Given the description of an element on the screen output the (x, y) to click on. 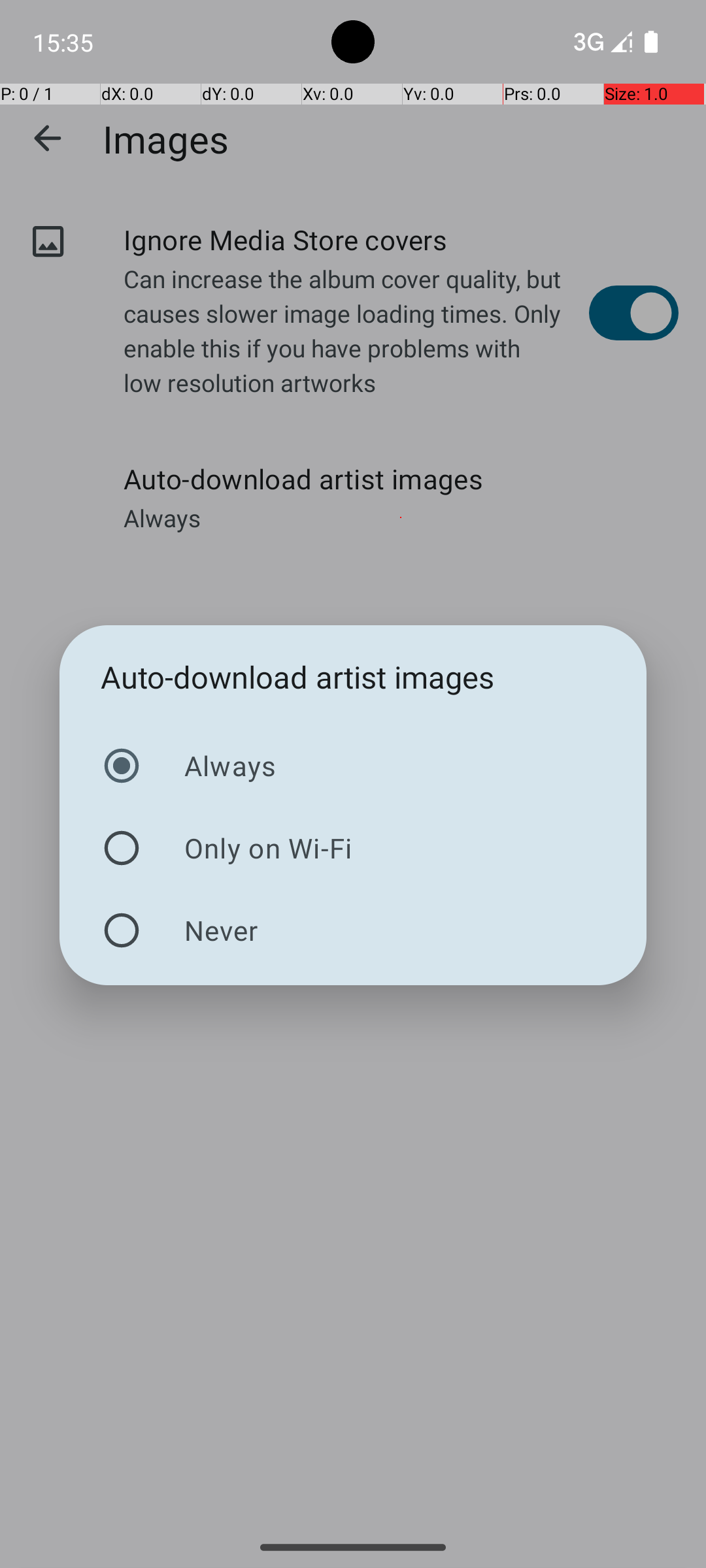
Auto-download artist images Element type: android.widget.TextView (297, 676)
Always Element type: android.widget.CheckedTextView (352, 765)
Only on Wi-Fi Element type: android.widget.CheckedTextView (352, 847)
Never Element type: android.widget.CheckedTextView (352, 930)
